Given the description of an element on the screen output the (x, y) to click on. 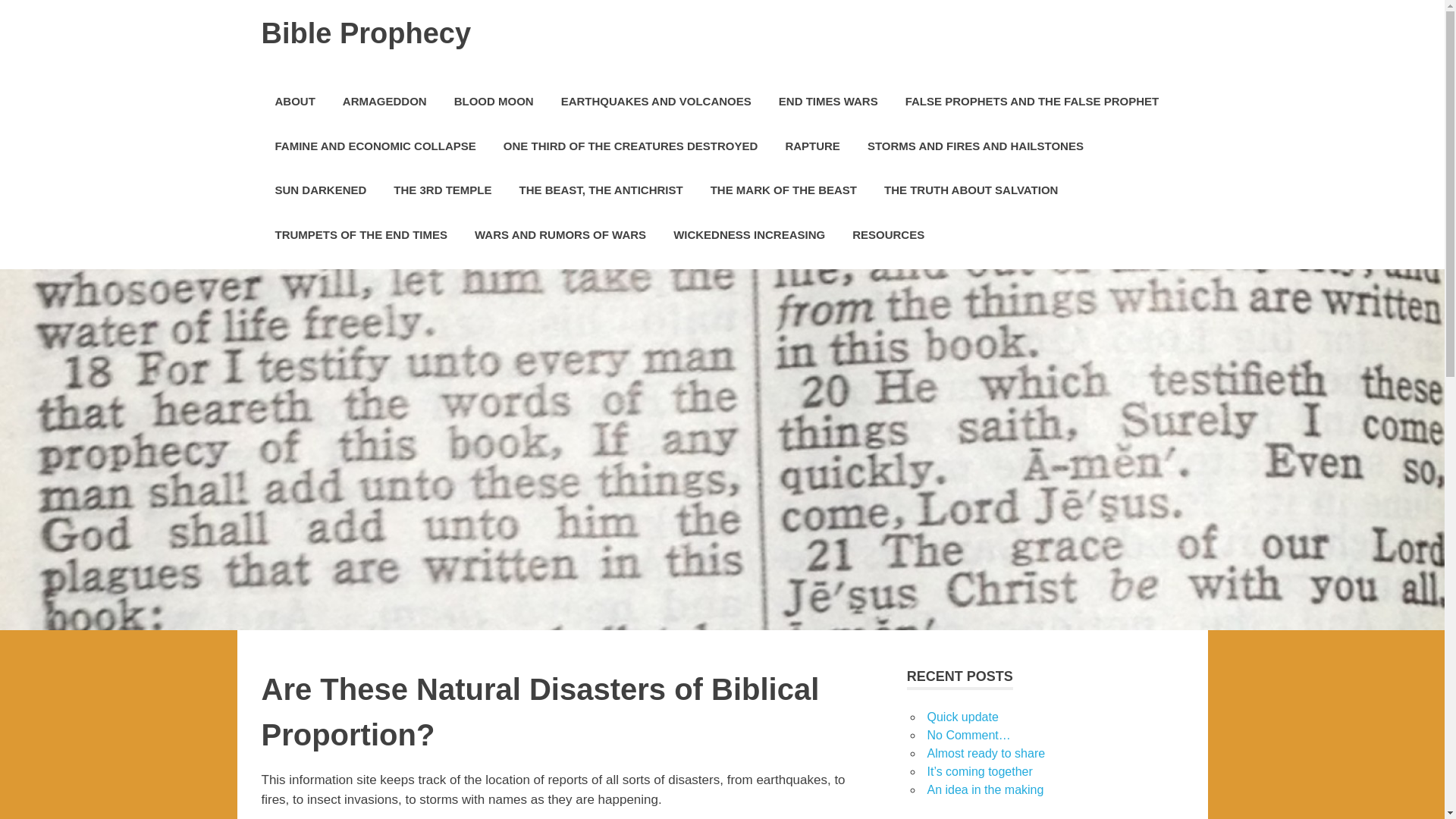
THE 3RD TEMPLE (442, 190)
STORMS AND FIRES AND HAILSTONES (975, 146)
ONE THIRD OF THE CREATURES DESTROYED (630, 146)
SUN DARKENED (320, 190)
FAMINE AND ECONOMIC COLLAPSE (374, 146)
FALSE PROPHETS AND THE FALSE PROPHET (1031, 101)
THE TRUTH ABOUT SALVATION (970, 190)
THE BEAST, THE ANTICHRIST (601, 190)
EARTHQUAKES AND VOLCANOES (656, 101)
TRUMPETS OF THE END TIMES (360, 234)
RAPTURE (812, 146)
RESOURCES (887, 234)
ARMAGEDDON (385, 101)
WICKEDNESS INCREASING (748, 234)
Bible Prophecy (365, 33)
